Given the description of an element on the screen output the (x, y) to click on. 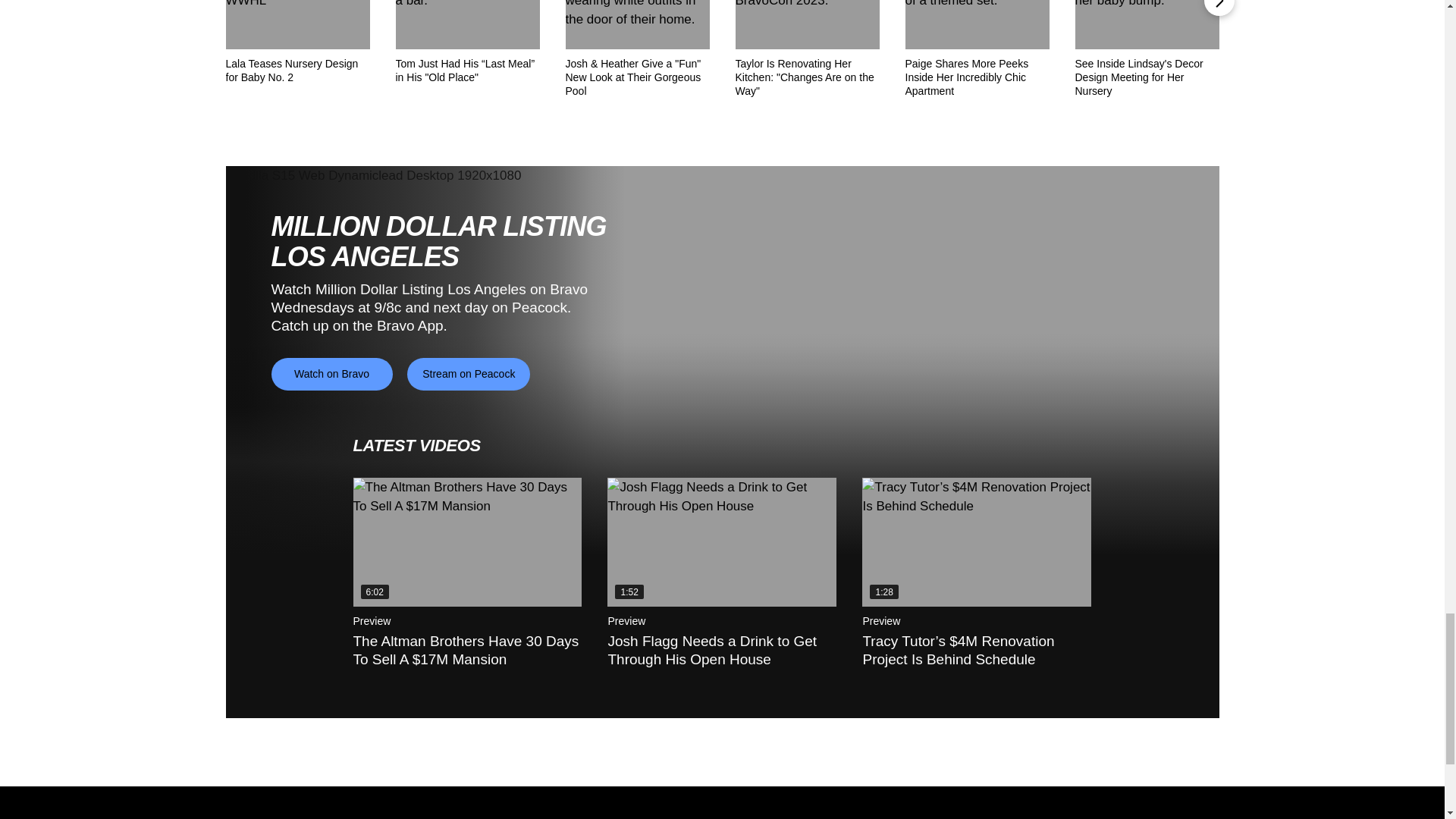
Josh Flagg Needs a Drink to Get Through His Open House (721, 541)
